Given the description of an element on the screen output the (x, y) to click on. 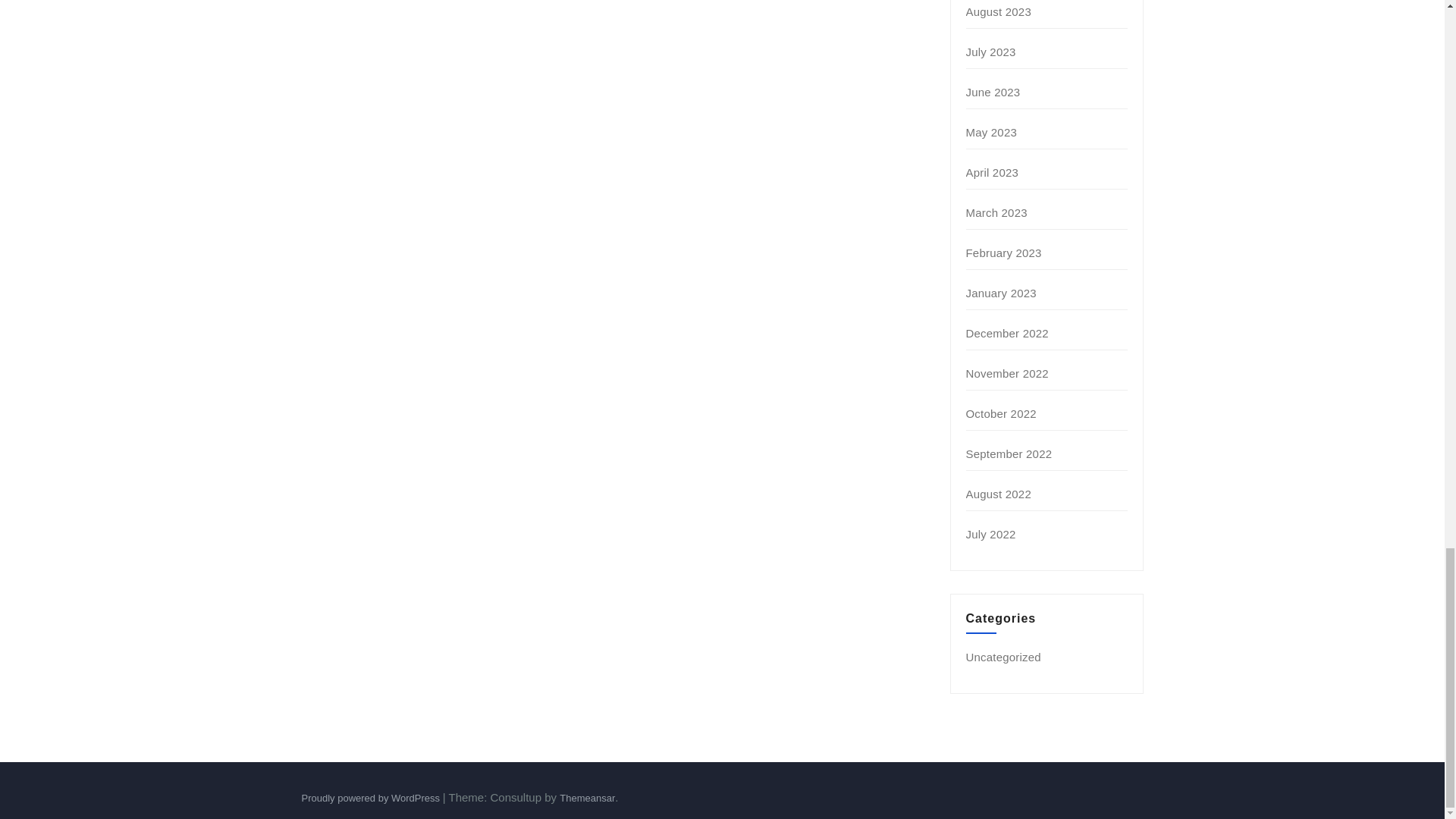
August 2023 (998, 11)
July 2023 (991, 51)
May 2023 (991, 132)
June 2023 (993, 91)
April 2023 (992, 172)
March 2023 (996, 212)
February 2023 (1004, 252)
